Given the description of an element on the screen output the (x, y) to click on. 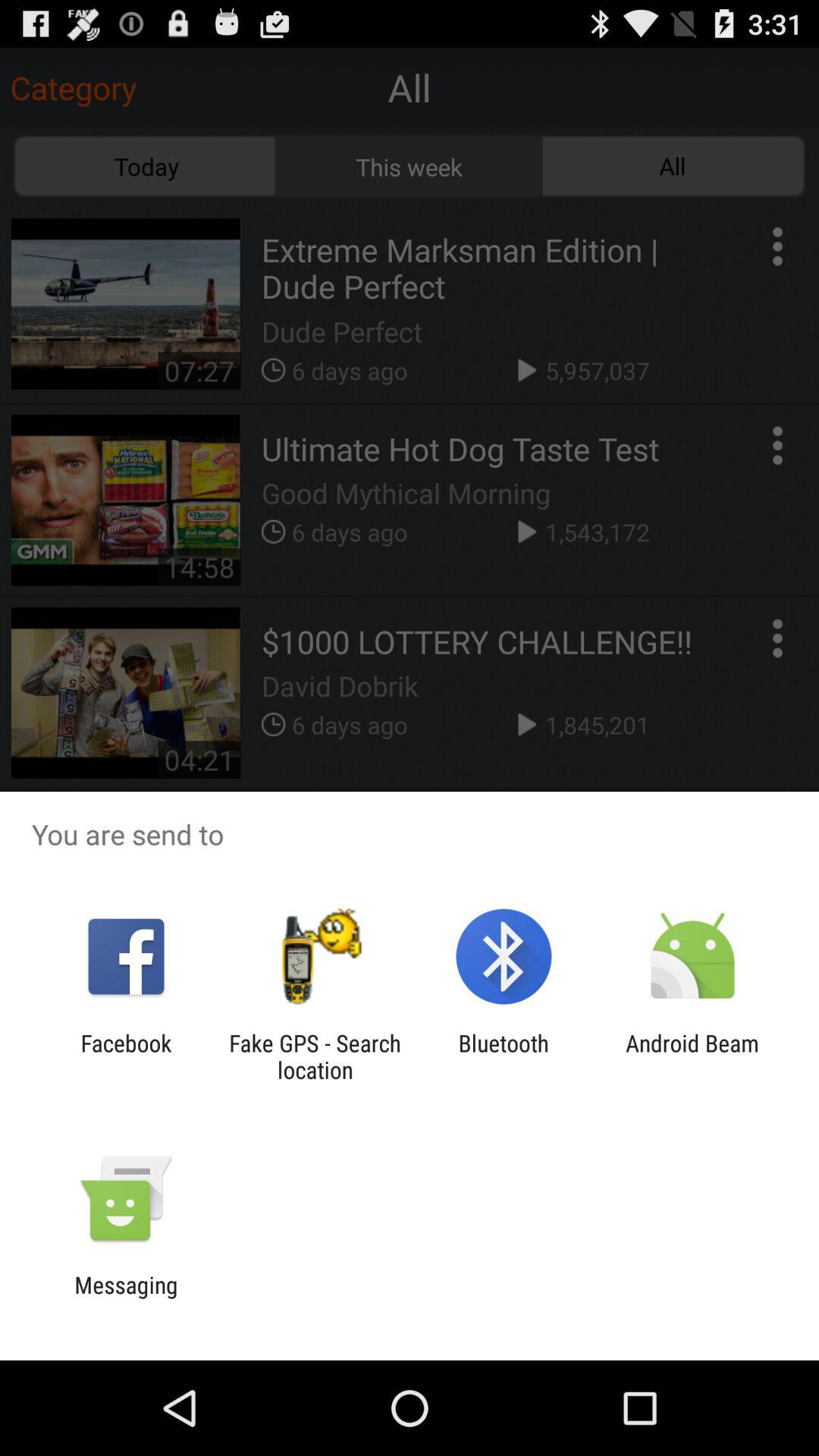
open the app to the left of bluetooth icon (314, 1056)
